Given the description of an element on the screen output the (x, y) to click on. 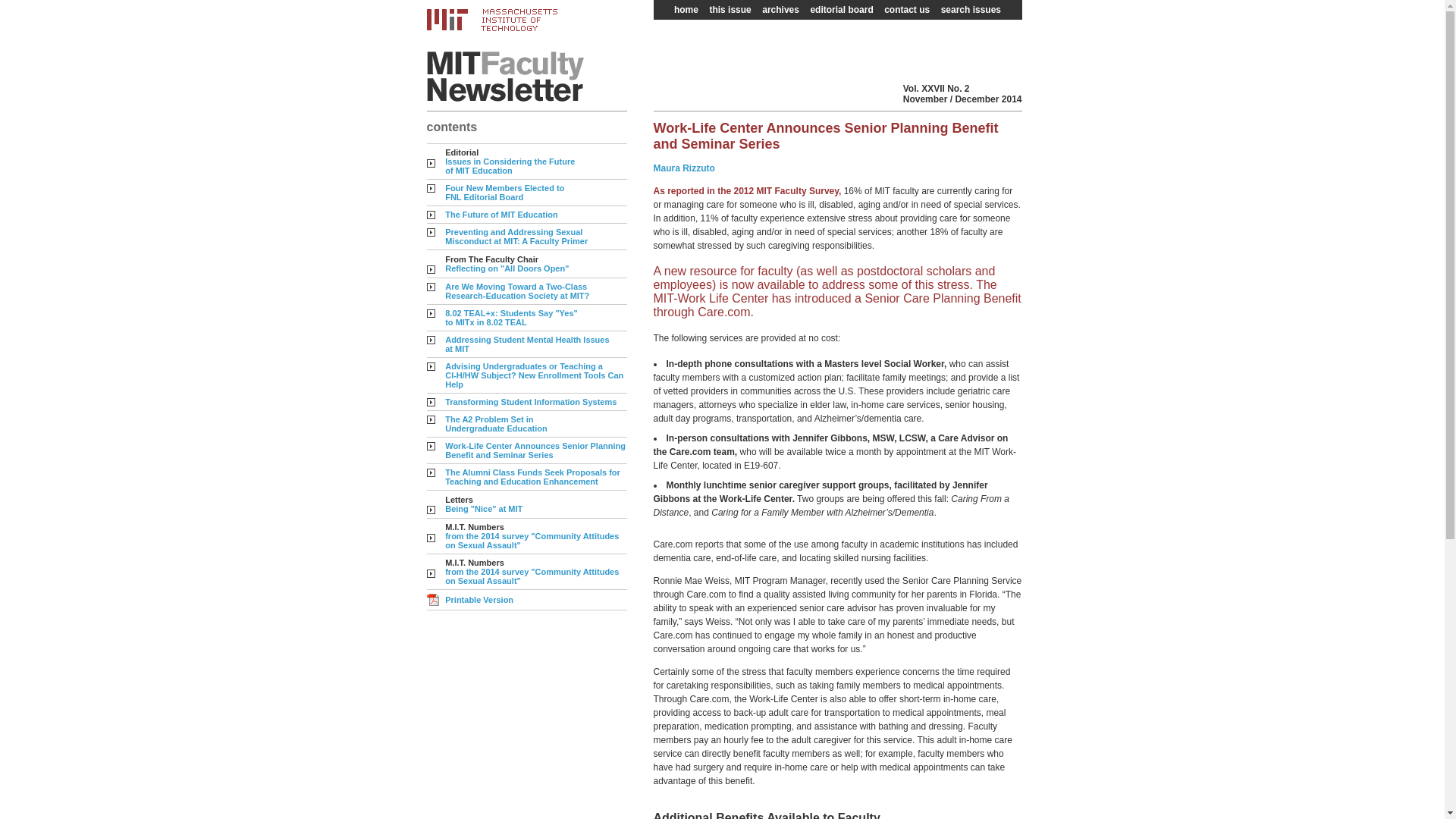
Reflecting on "All Doors Open" (507, 267)
contact us (510, 166)
Maura Rizzuto (906, 9)
archives (683, 167)
GO (780, 9)
editorial board (504, 192)
Printable Version (980, 39)
search issues (841, 9)
from the 2014 survey "Community Attitudes on Sexual Assault" (526, 343)
Transforming Student Information Systems (479, 599)
